Given the description of an element on the screen output the (x, y) to click on. 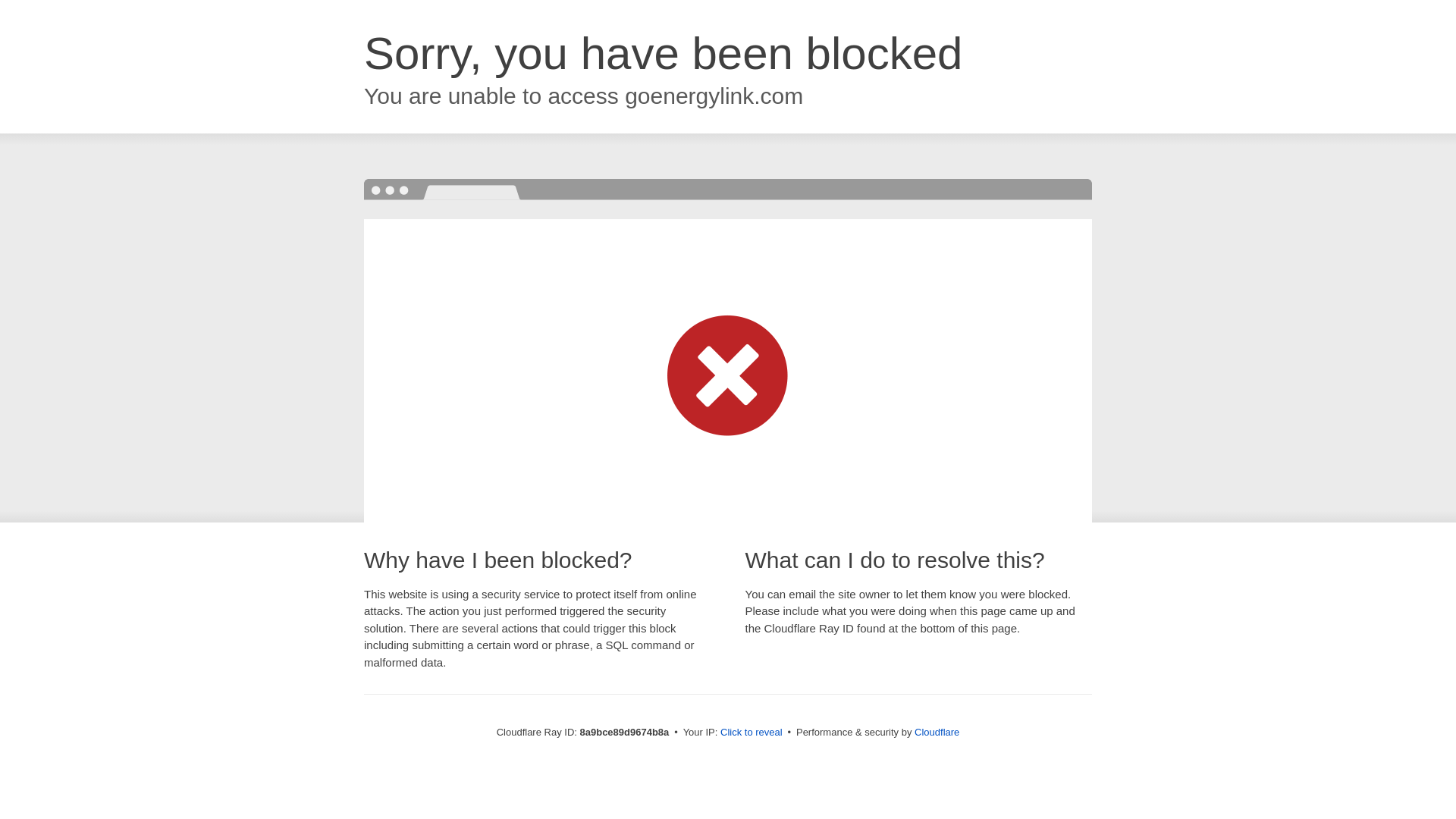
Click to reveal (751, 732)
Cloudflare (936, 731)
